Given the description of an element on the screen output the (x, y) to click on. 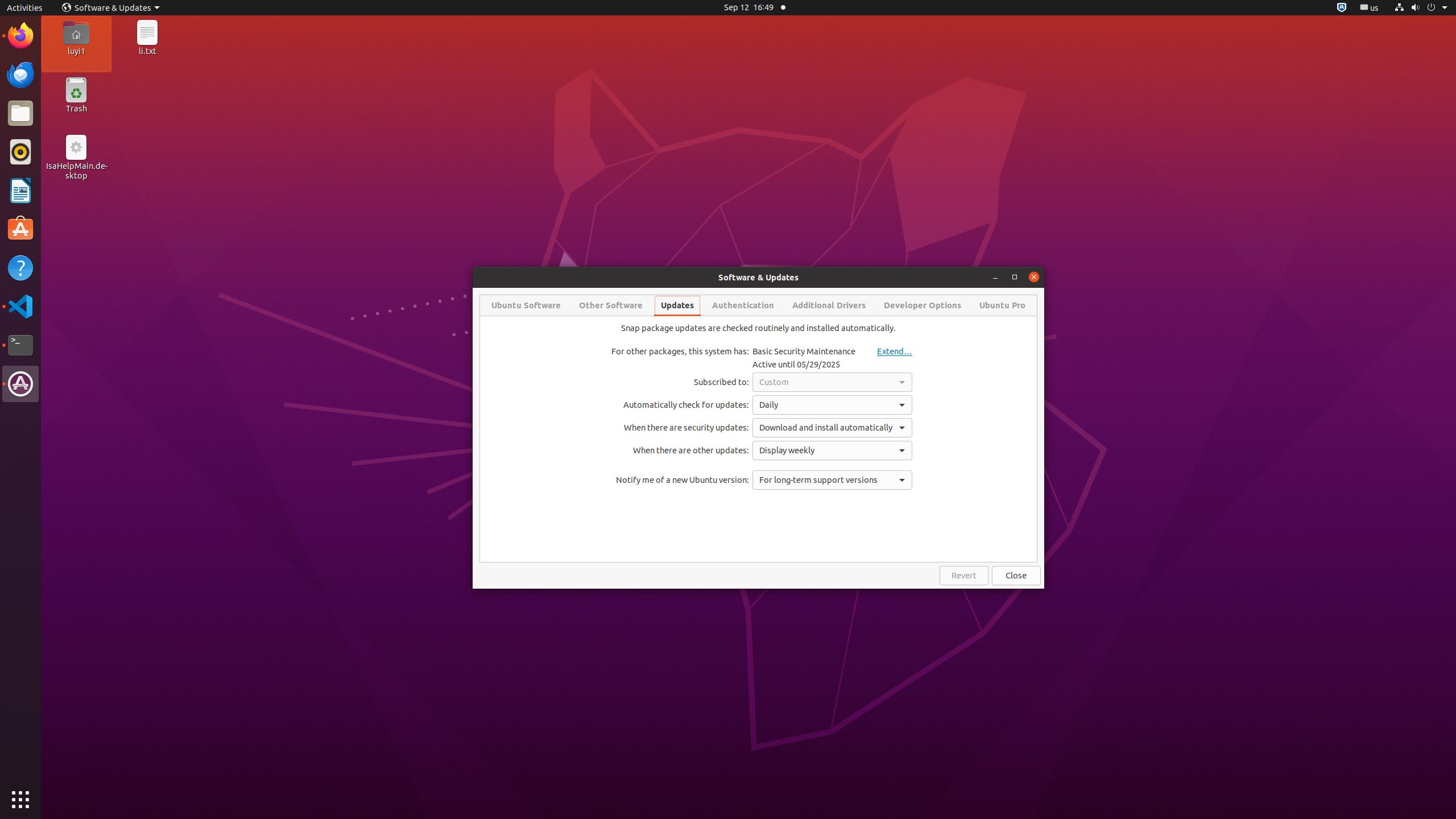
Custom Element type: combo-box (832, 381)
Software & Updates Element type: push-button (20, 383)
When there are other updates: Element type: label (680, 450)
luyi1 Element type: label (75, 50)
